Given the description of an element on the screen output the (x, y) to click on. 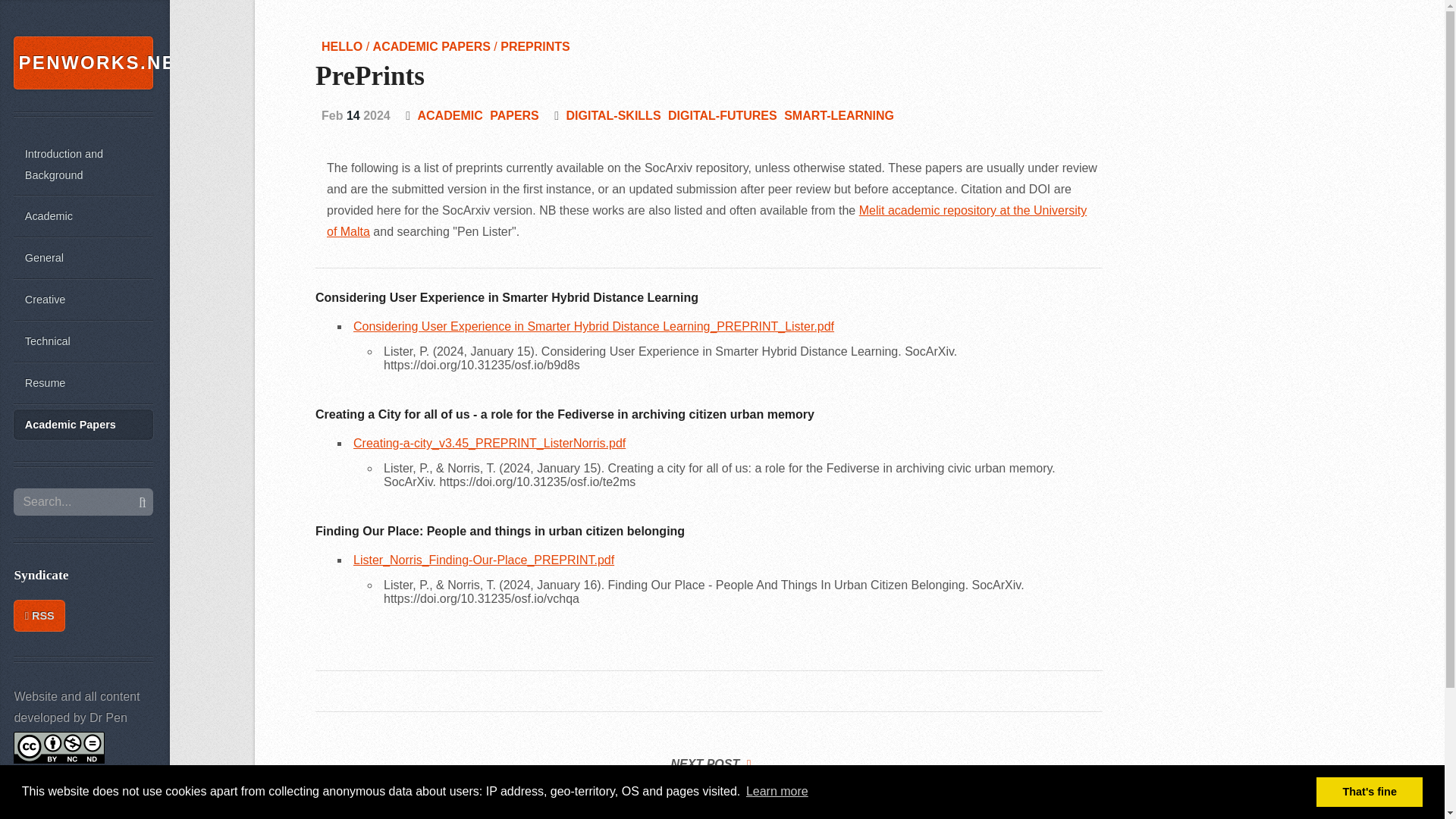
Creative (82, 299)
DIGITAL-FUTURES (722, 115)
RSS (39, 615)
Melit academic repository at the University of Malta (706, 220)
CC BY NC ND (58, 747)
DIGITAL-SKILLS (613, 115)
SMART-LEARNING (838, 115)
HELLO (343, 46)
PAPERS (513, 115)
Academic (82, 216)
